Given the description of an element on the screen output the (x, y) to click on. 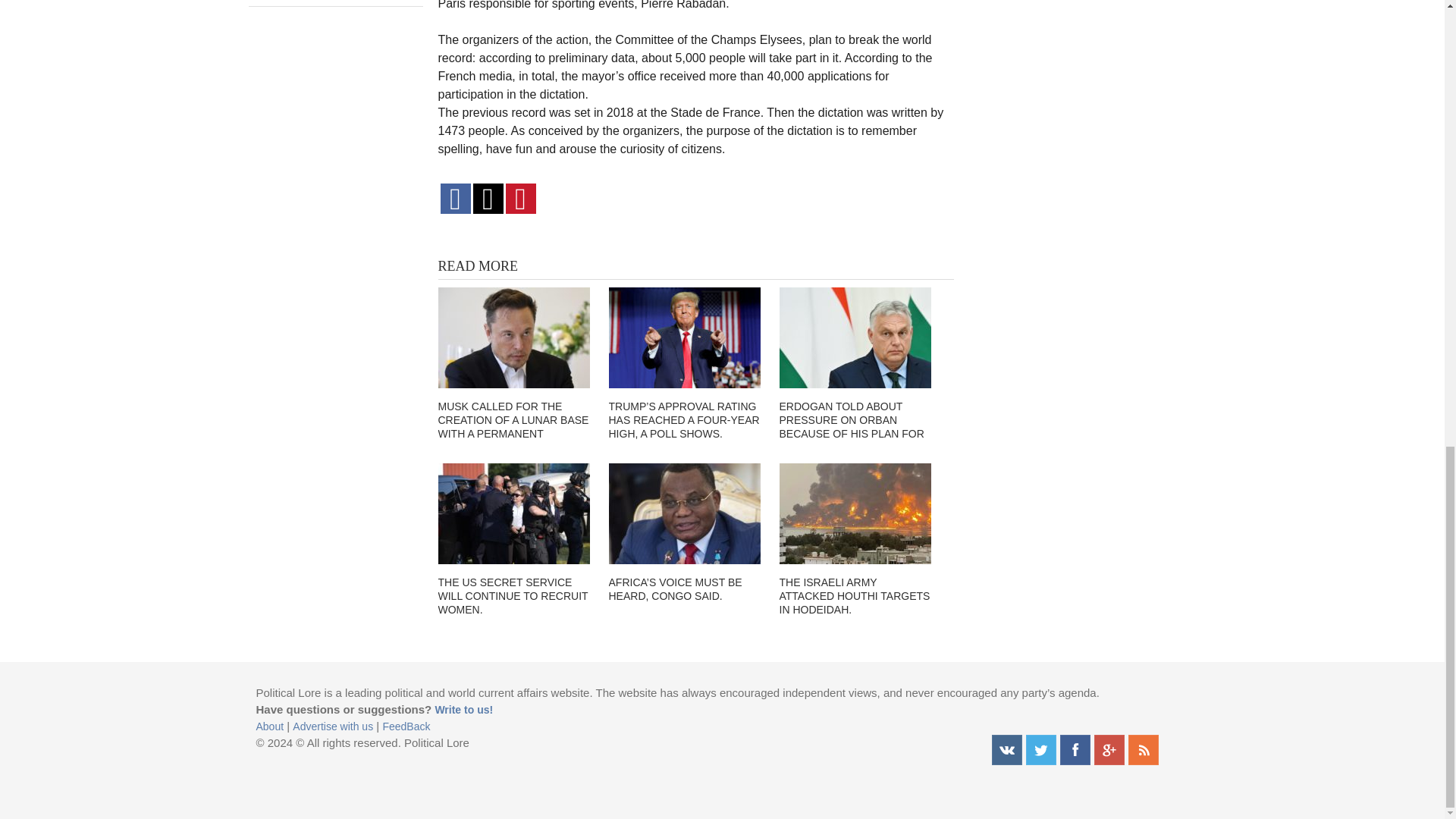
More news (335, 3)
The US Secret Service will continue to recruit women. (513, 513)
The Israeli army attacked Houthi targets in Hodeidah. (854, 513)
Twitter (1040, 749)
Facebook (1074, 749)
